Given the description of an element on the screen output the (x, y) to click on. 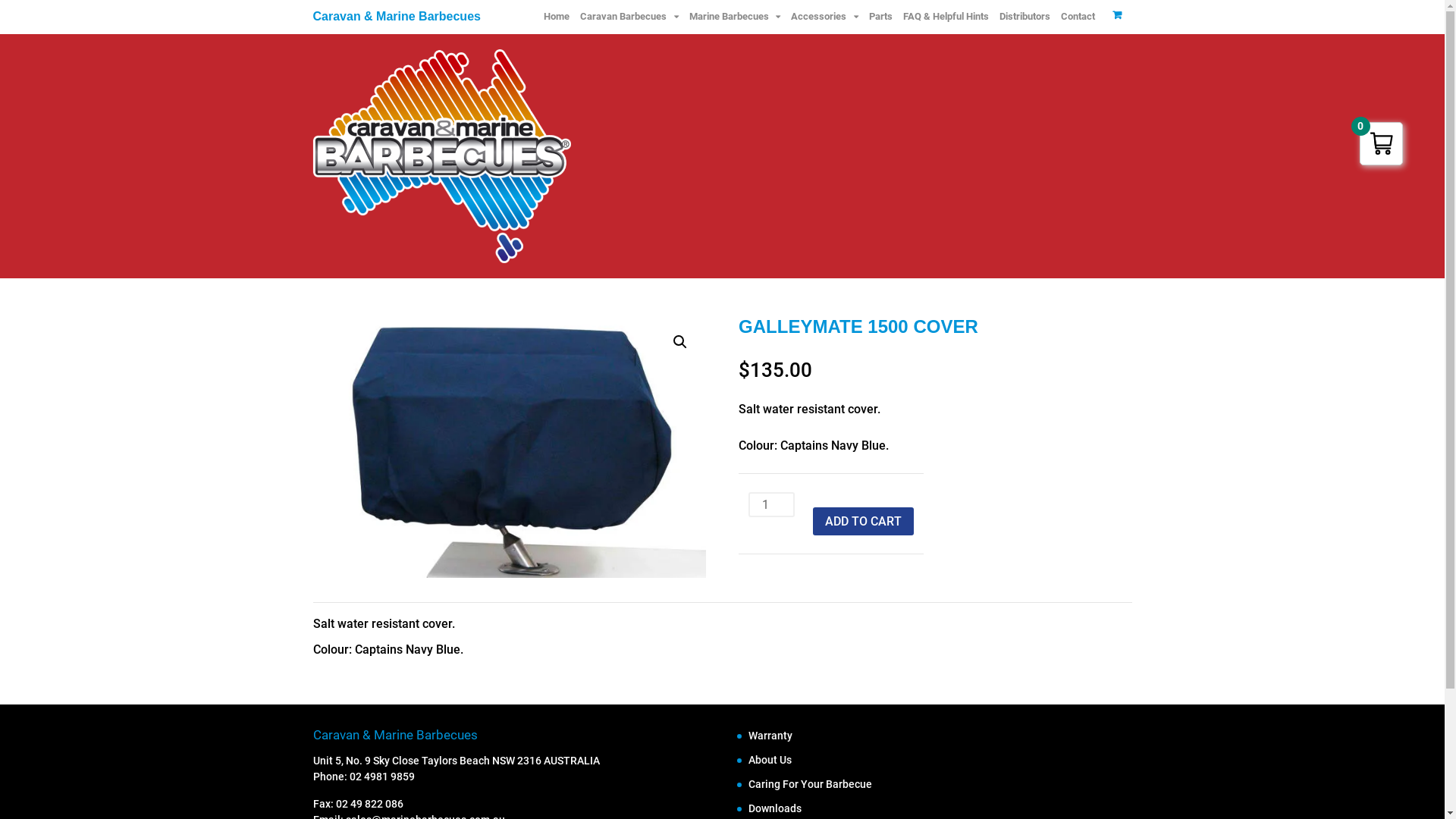
Contact Element type: text (1077, 16)
caravan-marine-bbq-logo Element type: hover (441, 156)
ADD TO CART Element type: text (862, 520)
FAQ & Helpful Hints Element type: text (945, 16)
Distributors Element type: text (1023, 16)
Parts Element type: text (879, 16)
Unit 5, No. 9 Sky Close Taylors Beach NSW 2316 AUSTRALIA Element type: text (455, 760)
About Us Element type: text (769, 759)
Warranty Element type: text (770, 735)
Downloads Element type: text (774, 808)
Caravan Barbecues Element type: text (628, 16)
Caravan & Marine Barbecues Element type: text (396, 15)
Accessories Element type: text (823, 16)
Home Element type: text (556, 16)
galleymate-cover Element type: hover (508, 447)
02 4981 9859  Element type: text (382, 776)
Marine Barbecues Element type: text (734, 16)
Caring For Your Barbecue Element type: text (810, 784)
View your shopping cart Element type: hover (1117, 14)
